Given the description of an element on the screen output the (x, y) to click on. 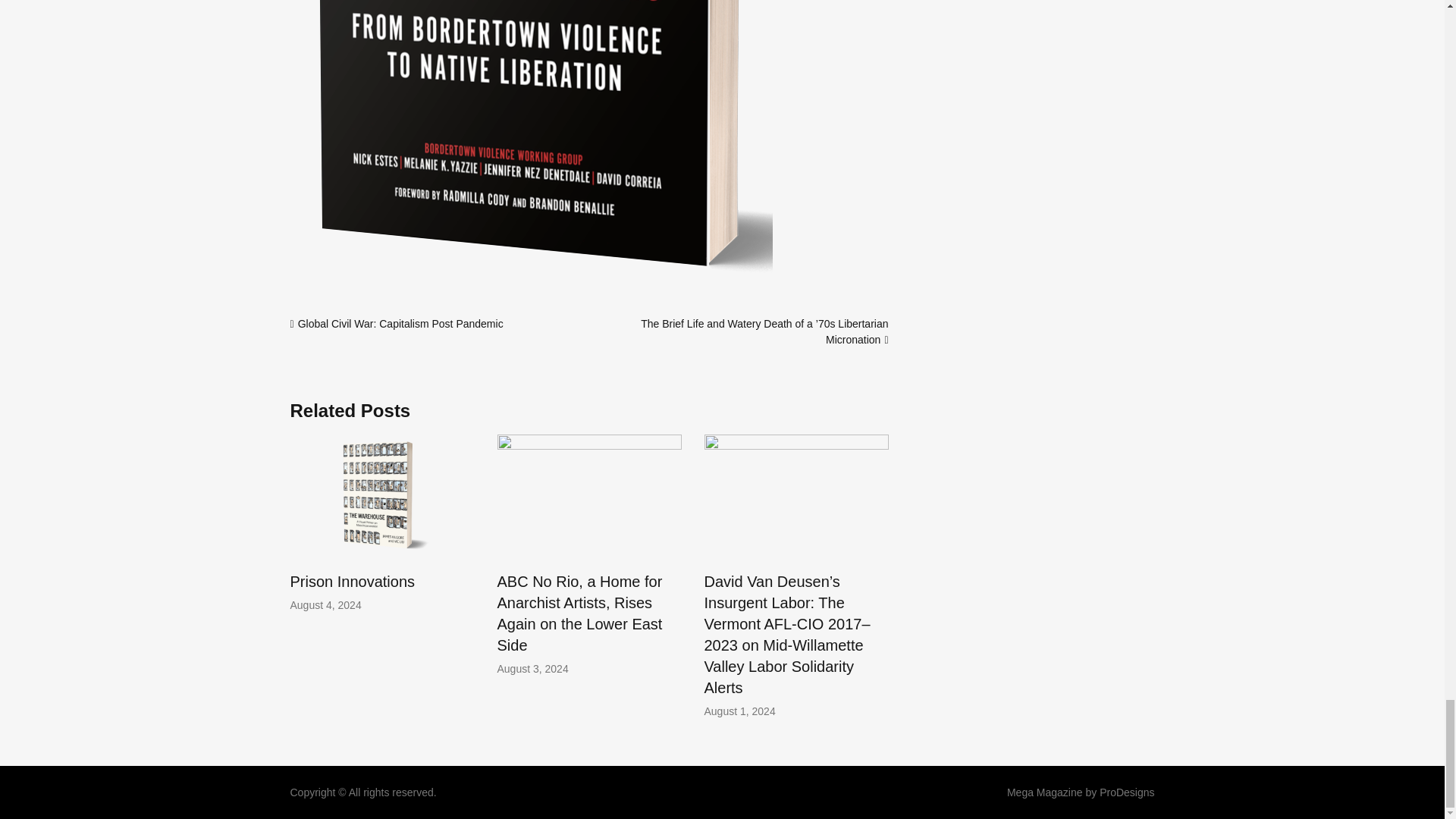
Prison Innovations (351, 581)
Global Civil War: Capitalism Post Pandemic (400, 323)
